Given the description of an element on the screen output the (x, y) to click on. 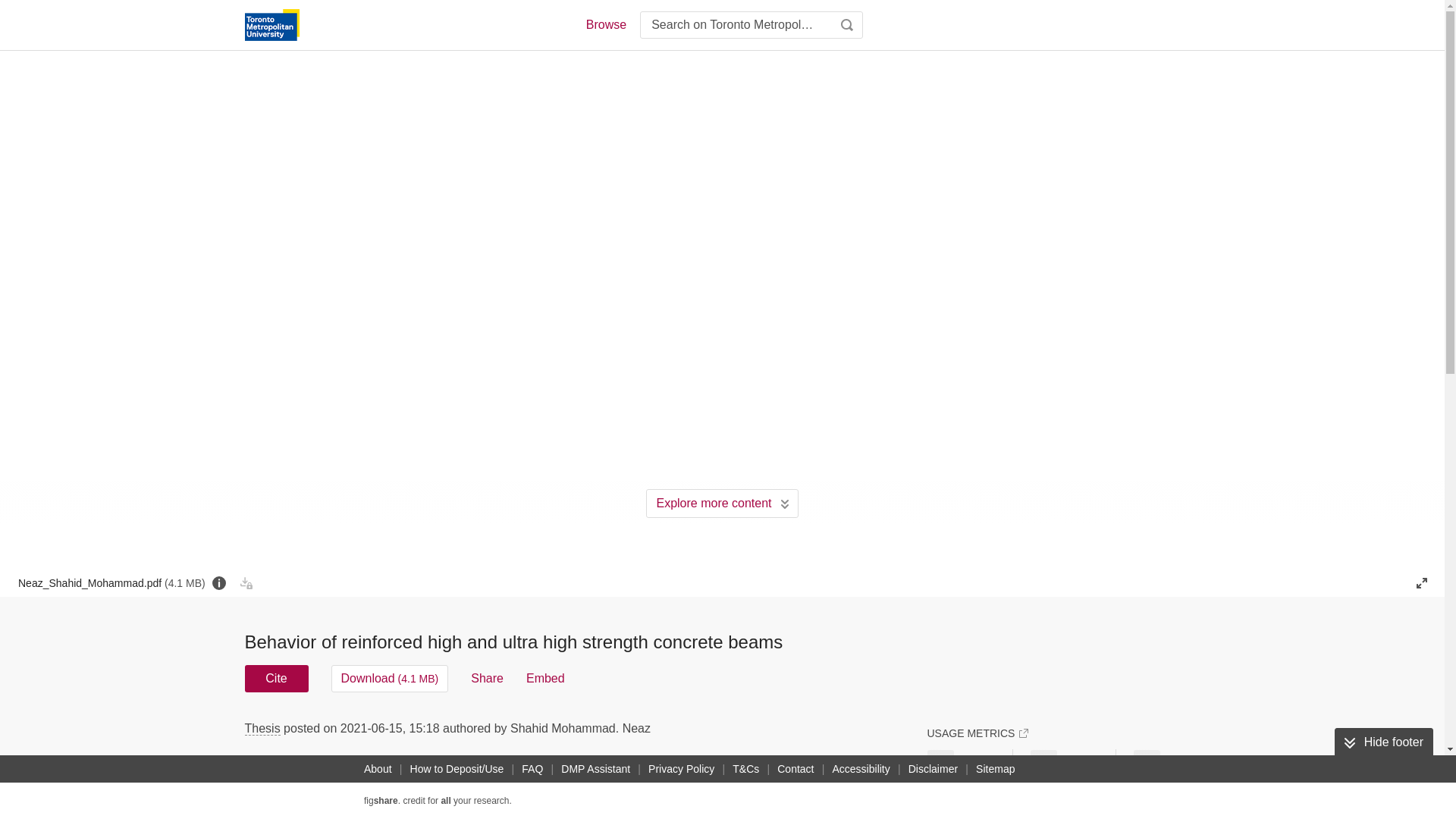
Embed (544, 678)
Share (486, 678)
Privacy Policy (681, 769)
Disclaimer (933, 769)
Hide footer (1383, 742)
About (377, 769)
Sitemap (995, 769)
Explore more content (721, 502)
Accessibility (861, 769)
USAGE METRICS (976, 732)
Contact (795, 769)
DMP Assistant (595, 769)
FAQ (531, 769)
Cite (275, 678)
